Given the description of an element on the screen output the (x, y) to click on. 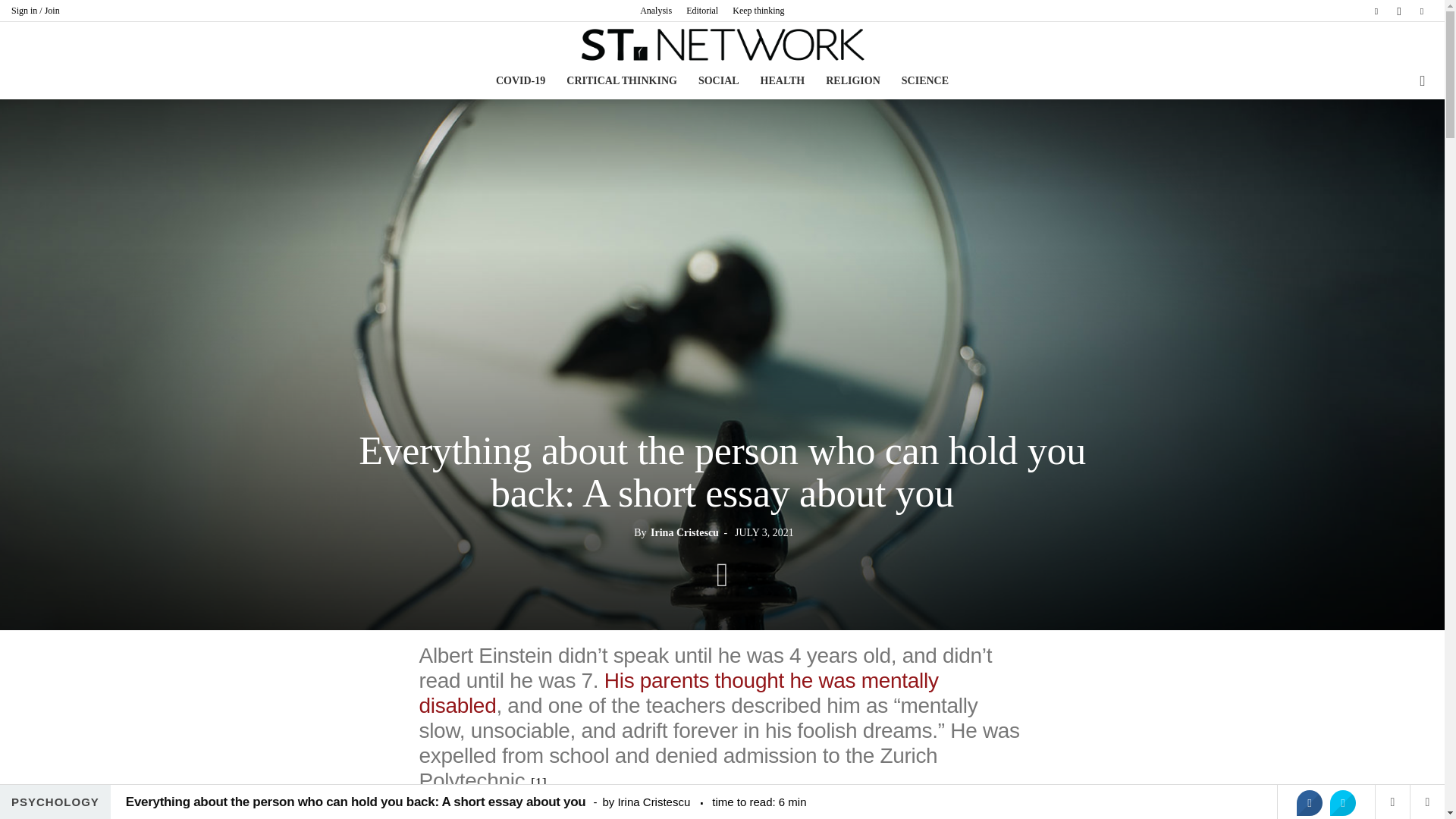
Keep thinking (758, 9)
Instagram (1398, 10)
Editorial (701, 9)
Facebook (1376, 10)
Christian Analysis and Opinion (721, 44)
Analysis (655, 9)
Twitter (1421, 10)
